Given the description of an element on the screen output the (x, y) to click on. 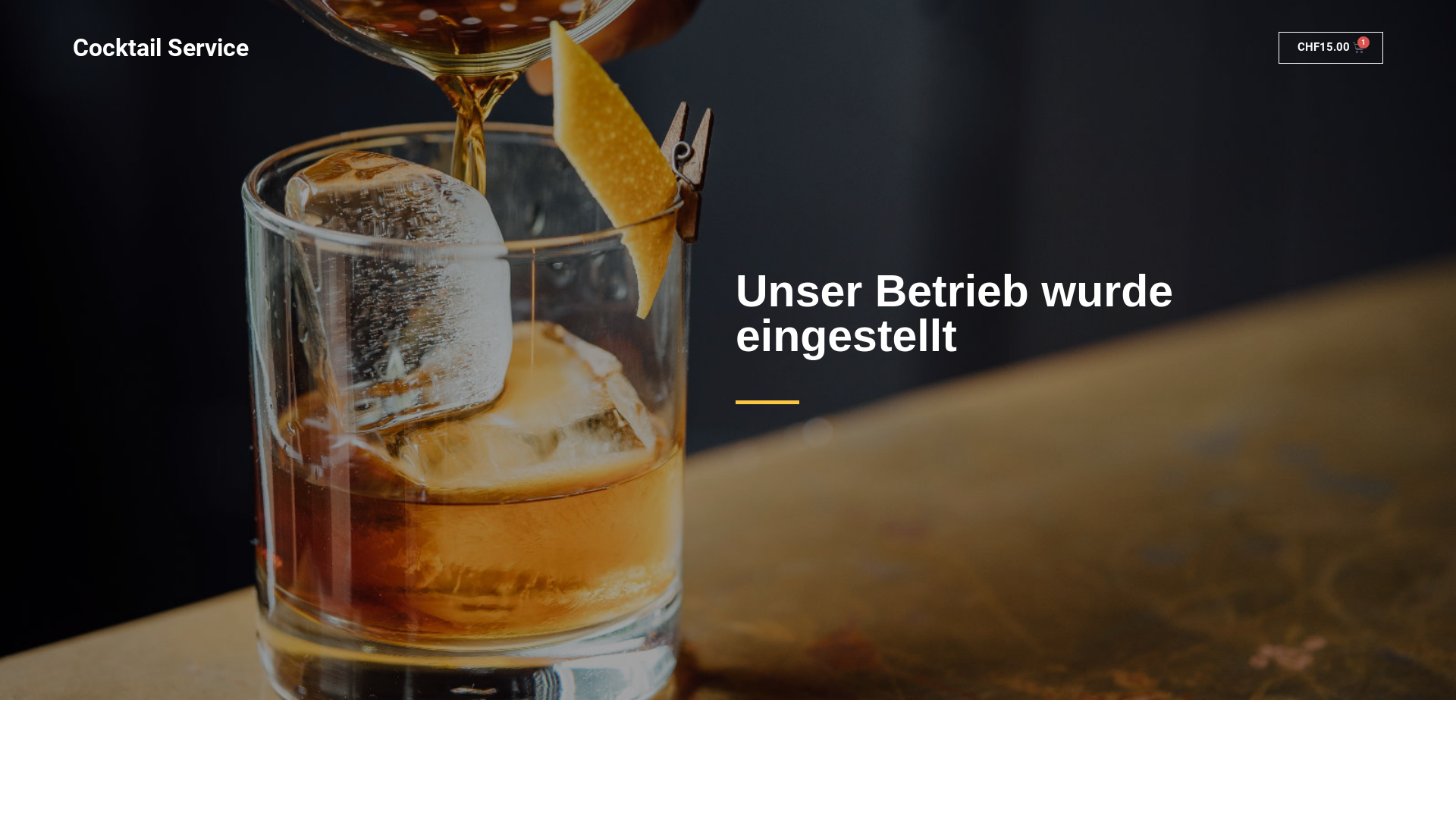
Cocktail Service Element type: text (160, 47)
CHF15.00
1 Element type: text (1330, 47)
